Given the description of an element on the screen output the (x, y) to click on. 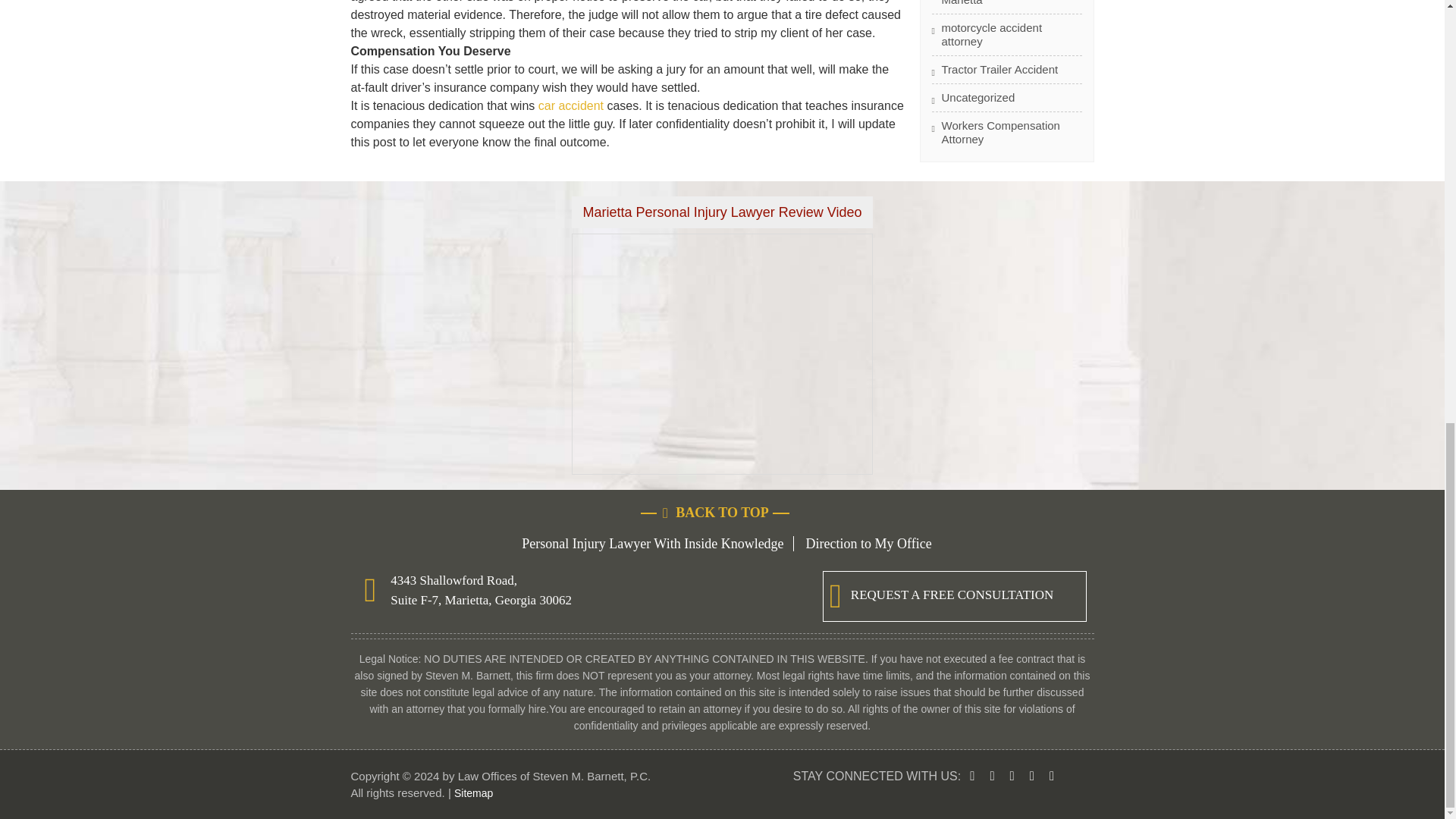
car accident (571, 105)
